Given the description of an element on the screen output the (x, y) to click on. 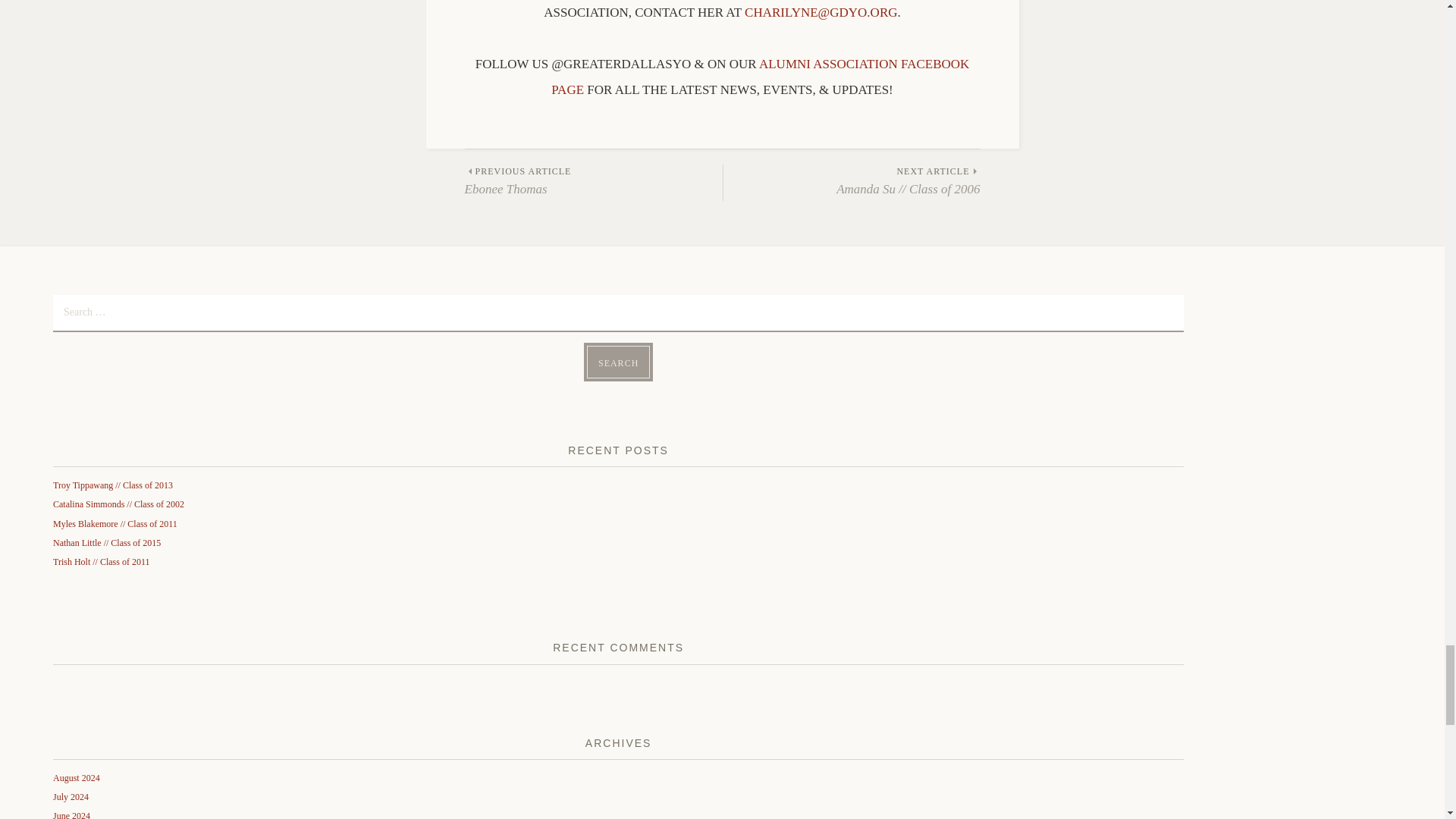
July 2024 (70, 796)
June 2024 (71, 814)
August 2024 (593, 181)
Search (76, 777)
Search (617, 361)
ALUMNI ASSOCIATION FACEBOOK PAGE (617, 361)
Search (760, 76)
